Given the description of an element on the screen output the (x, y) to click on. 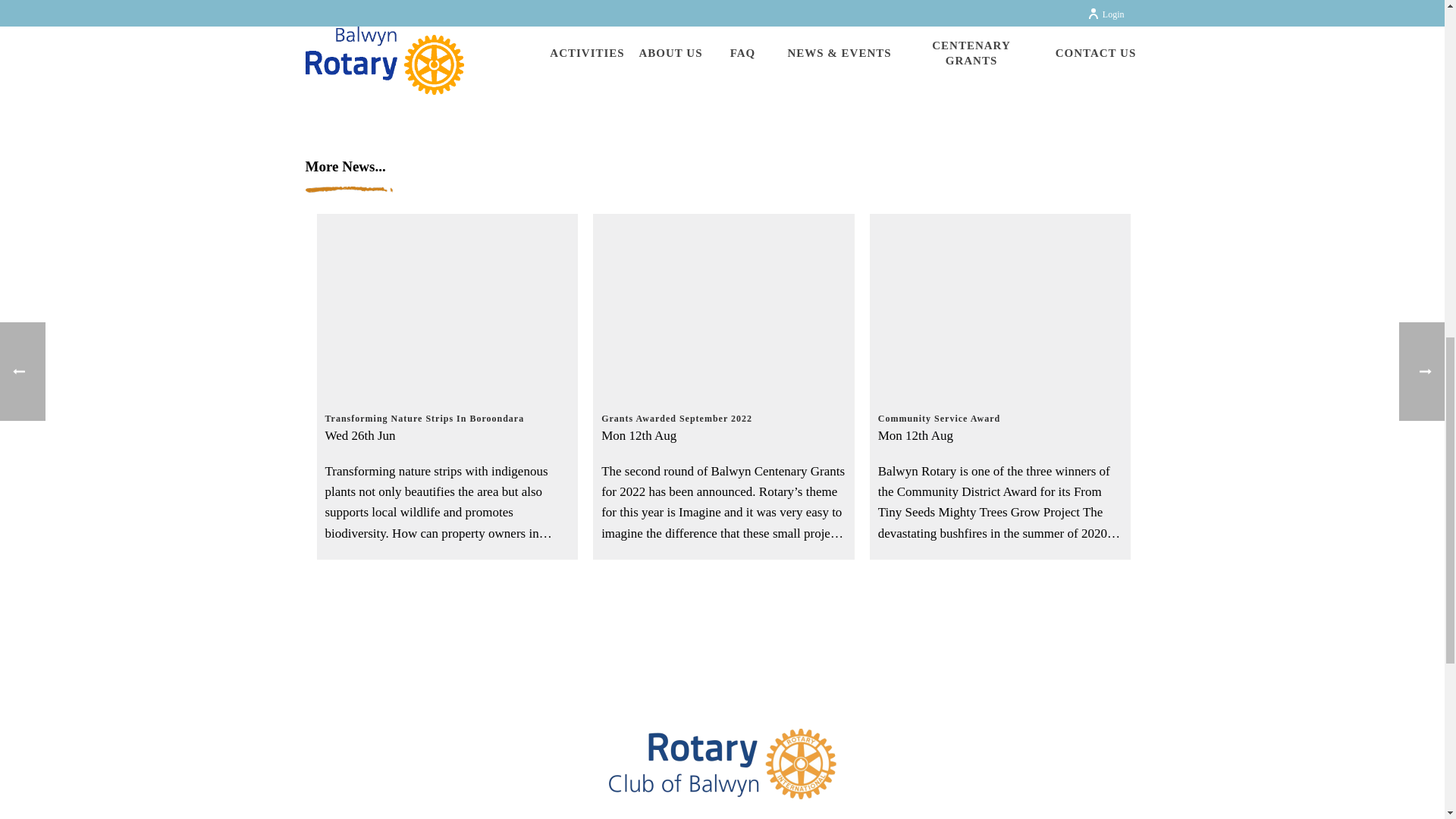
Transforming Nature Strips In Boroondara (446, 410)
Grants Awarded September 2022 (723, 305)
Transforming Nature Strips in Boroondara (446, 305)
Community Service Award (1000, 305)
Community Service Award (1000, 410)
Grants Awarded September 2022 (723, 410)
